Given the description of an element on the screen output the (x, y) to click on. 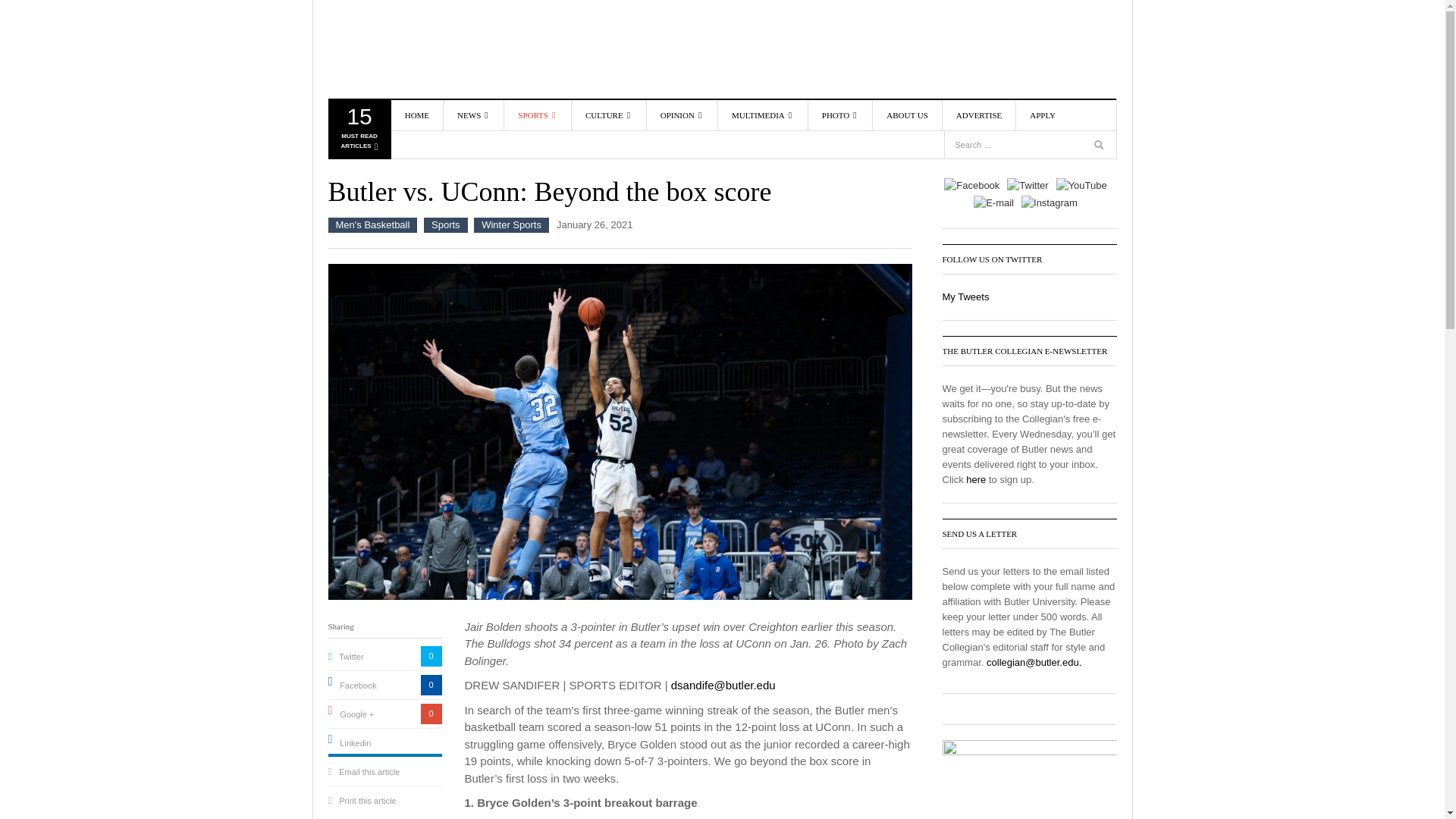
HOME (416, 114)
NEWS (499, 149)
The Butler Collegian (358, 132)
Search (414, 49)
NEWS (1091, 115)
The Butler Collegian (473, 114)
Search (414, 49)
BREAKING NEWS (1100, 146)
